Given the description of an element on the screen output the (x, y) to click on. 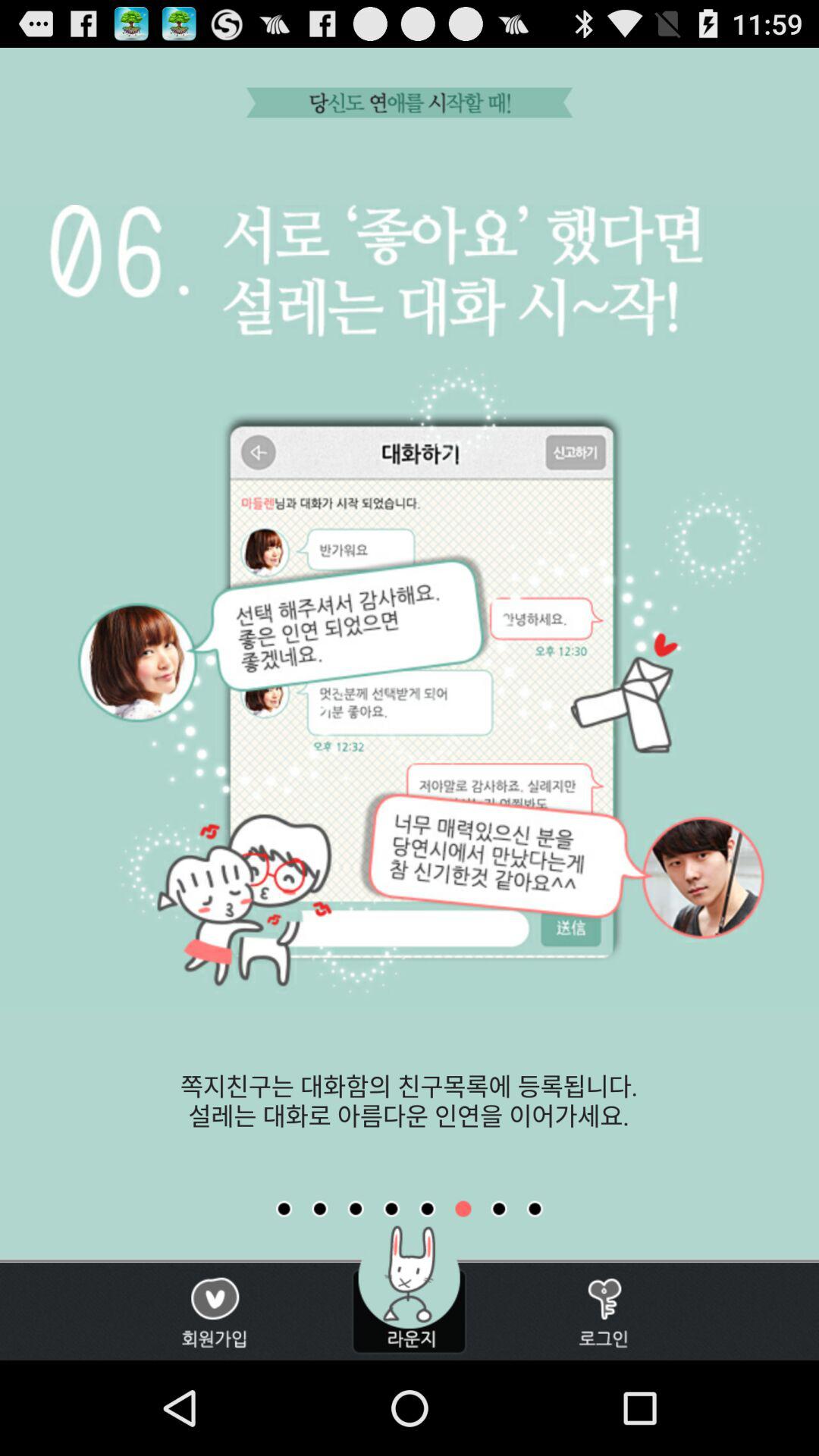
pass images (319, 1208)
